Given the description of an element on the screen output the (x, y) to click on. 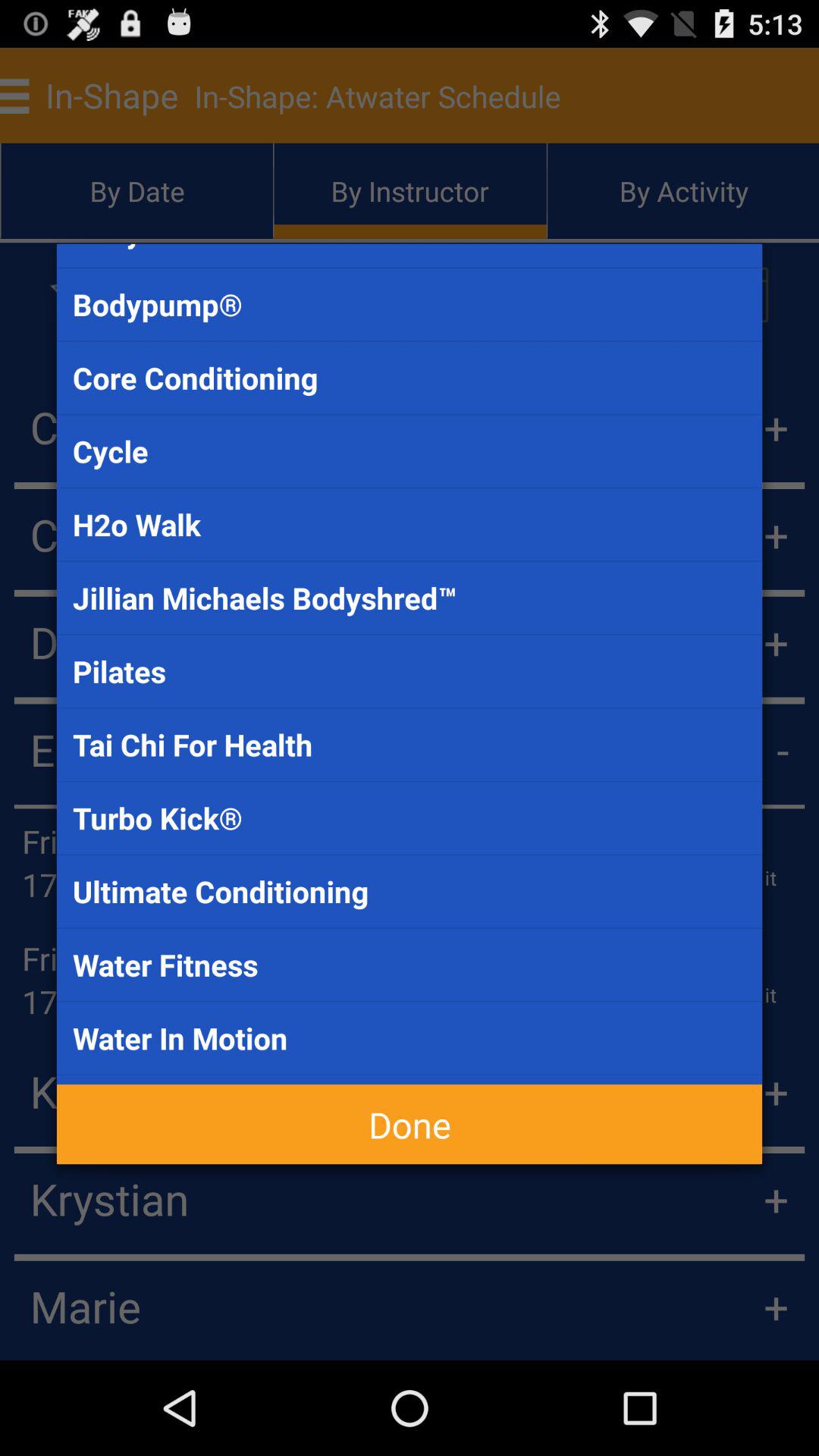
launch pilates icon (409, 671)
